Given the description of an element on the screen output the (x, y) to click on. 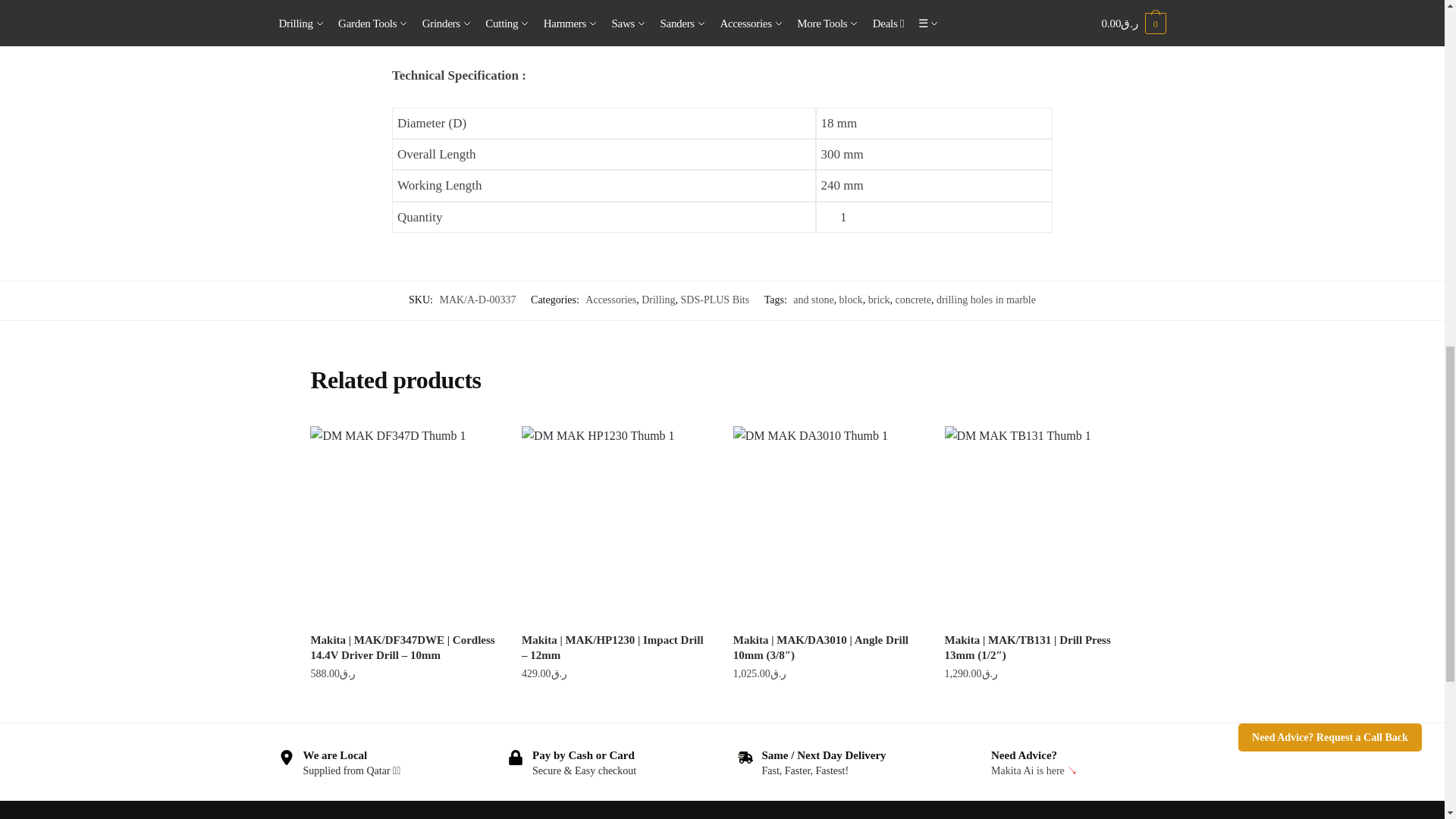
Learn more (351, 770)
Learn more (584, 770)
Learn more (804, 770)
